Given the description of an element on the screen output the (x, y) to click on. 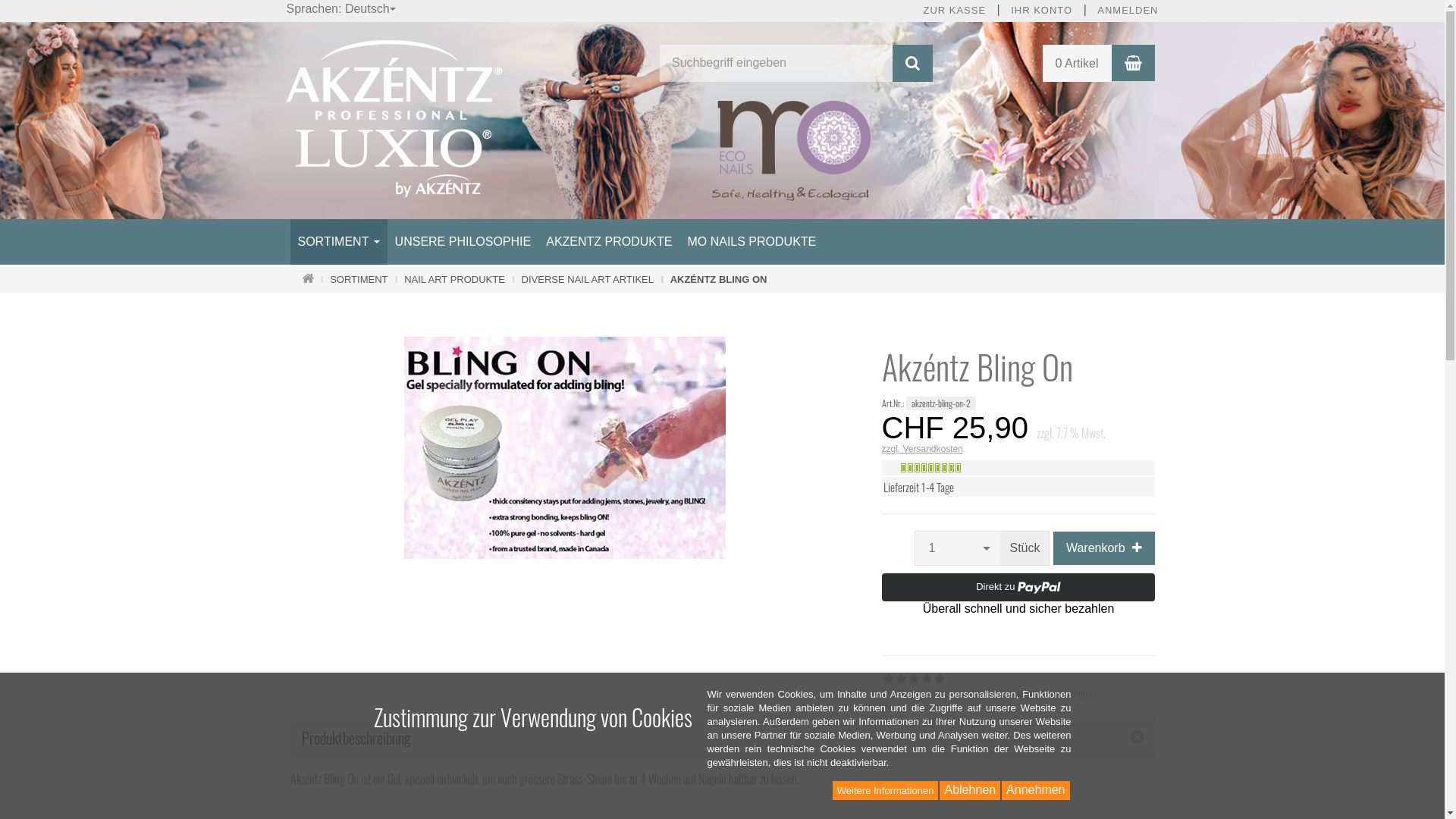
NAIL ART PRODUKTE Element type: text (454, 279)
Ablehnen Element type: text (969, 790)
zzgl. Versandkosten Element type: text (1017, 448)
  Element type: text (882, 323)
Weitere Informationen Element type: text (885, 790)
0 Artikel Element type: text (1076, 62)
DIVERSE NAIL ART ARTIKEL Element type: text (587, 279)
  Element type: text (290, 323)
Akzentz & LUXIO Nagelprodukte Online Shop Schweiz Element type: hover (394, 118)
PayPal Element type: hover (1017, 594)
1 Element type: text (957, 547)
Annehmen Element type: text (1035, 790)
IHR KONTO Element type: text (1041, 10)
SORTIMENT Element type: text (337, 241)
ANMELDEN Element type: text (1127, 10)
MO NAILS PRODUKTE Element type: text (751, 241)
Sprachen: Deutsch Element type: text (341, 9)
Suchen Element type: text (912, 62)
SORTIMENT Element type: text (358, 279)
Warenkorb Element type: text (1132, 62)
AKZENTZ PRODUKTE Element type: text (608, 241)
Warenkorb   Element type: text (1103, 547)
STARTSEITE Element type: text (307, 279)
ZUR KASSE Element type: text (954, 10)
UNSERE PHILOSOPHIE Element type: text (463, 241)
